Given the description of an element on the screen output the (x, y) to click on. 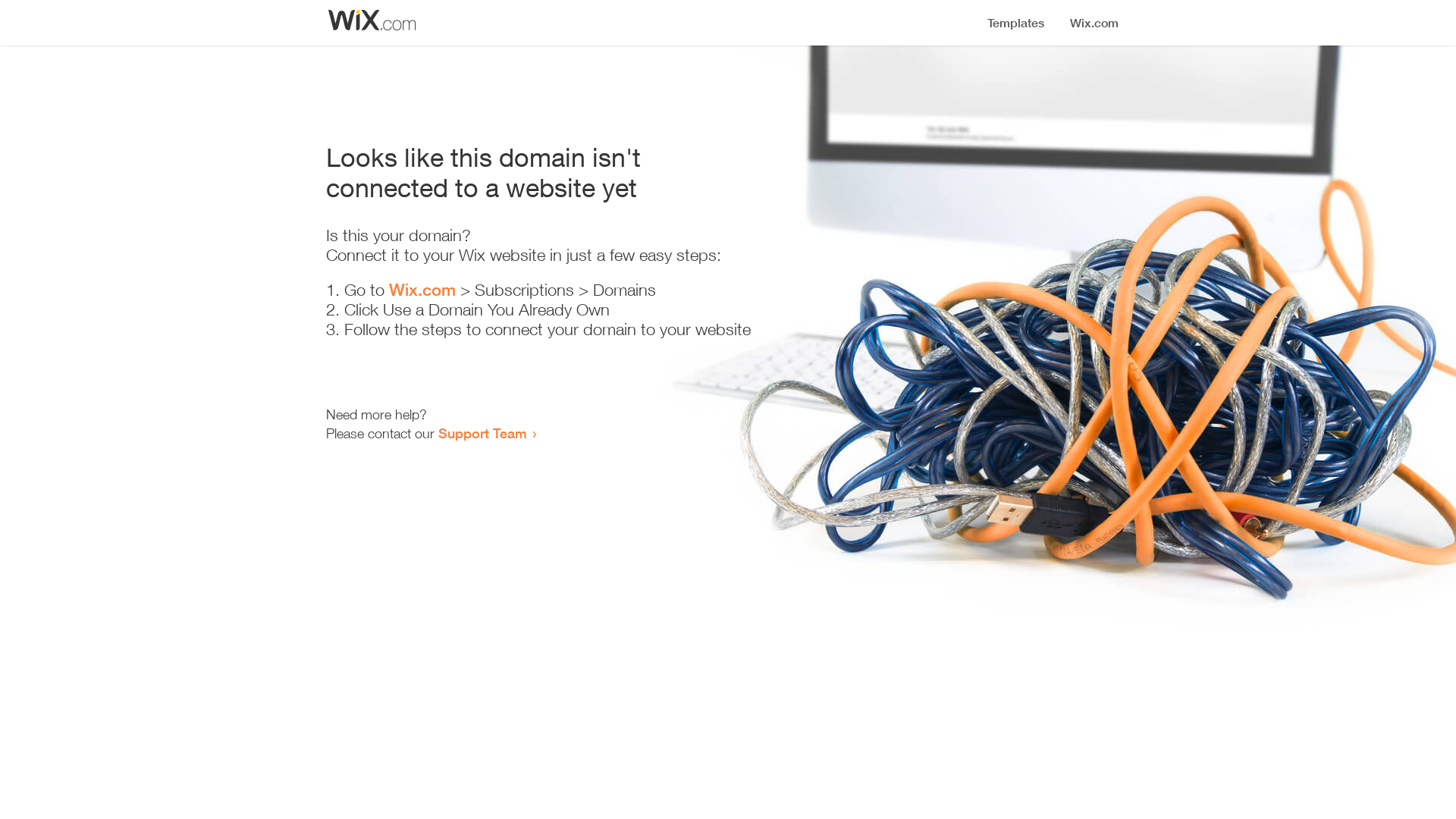
Support Team Element type: text (482, 432)
Wix.com Element type: text (422, 289)
